Given the description of an element on the screen output the (x, y) to click on. 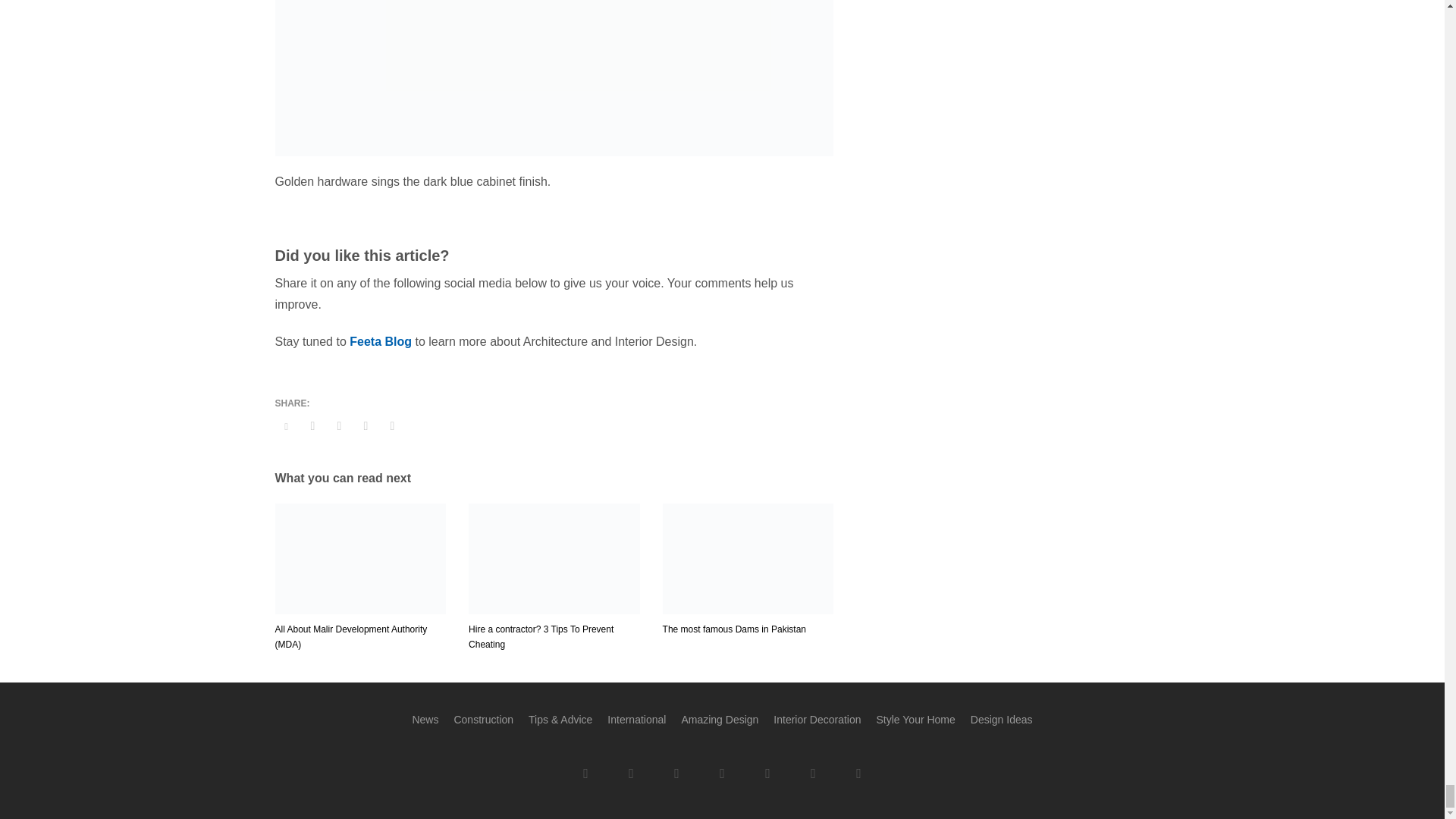
the-most-famous-dams-in-pakistan (748, 558)
SHARE ON PINTEREST (366, 425)
SHARE ON MAIL (391, 425)
SHARE ON GPLUS (338, 425)
SHARE ON FACEBOOK (312, 425)
SHARE ON TWITTER (286, 426)
